Given the description of an element on the screen output the (x, y) to click on. 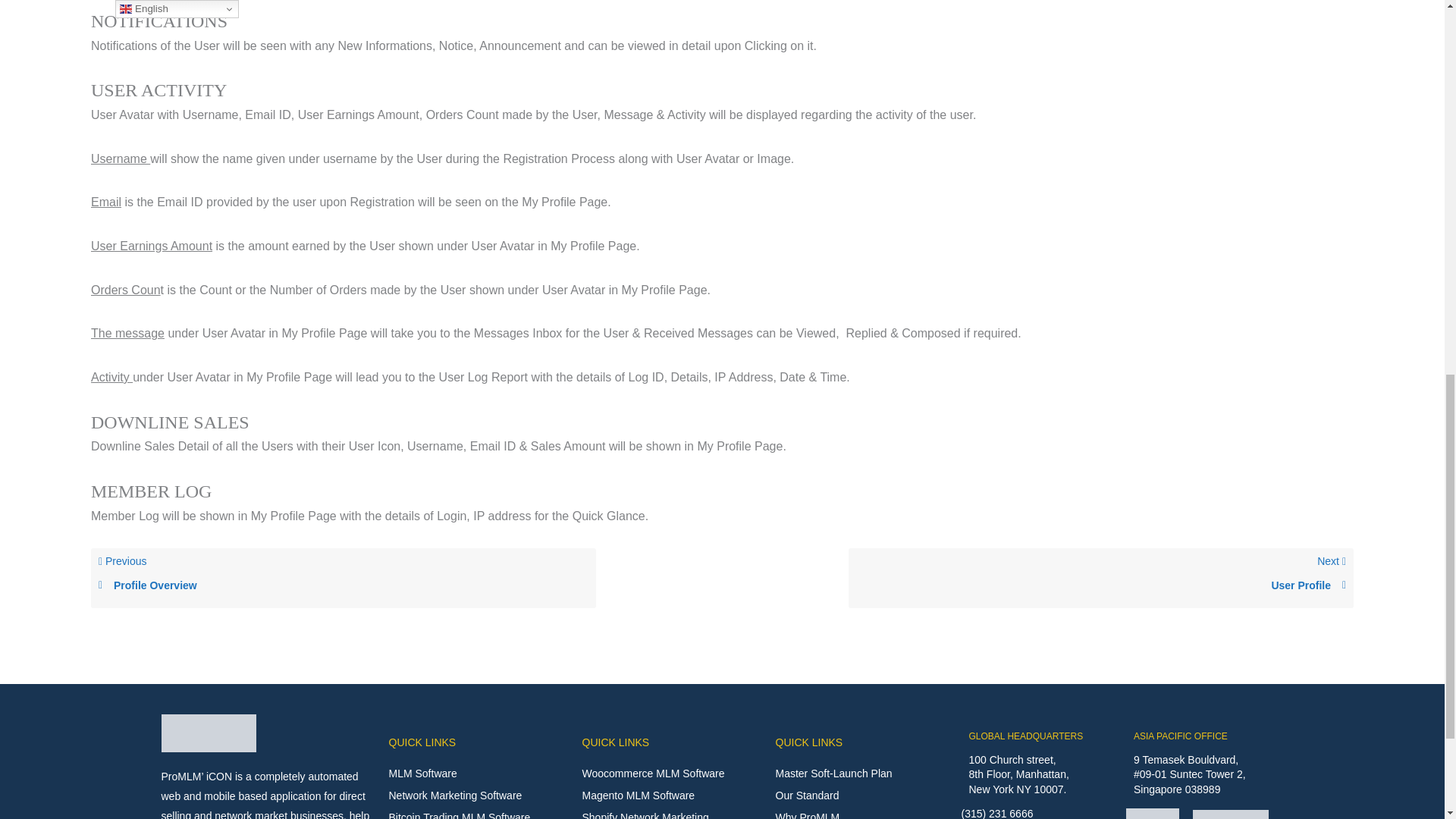
Profile Overview (343, 585)
User Profile (1100, 585)
